Given the description of an element on the screen output the (x, y) to click on. 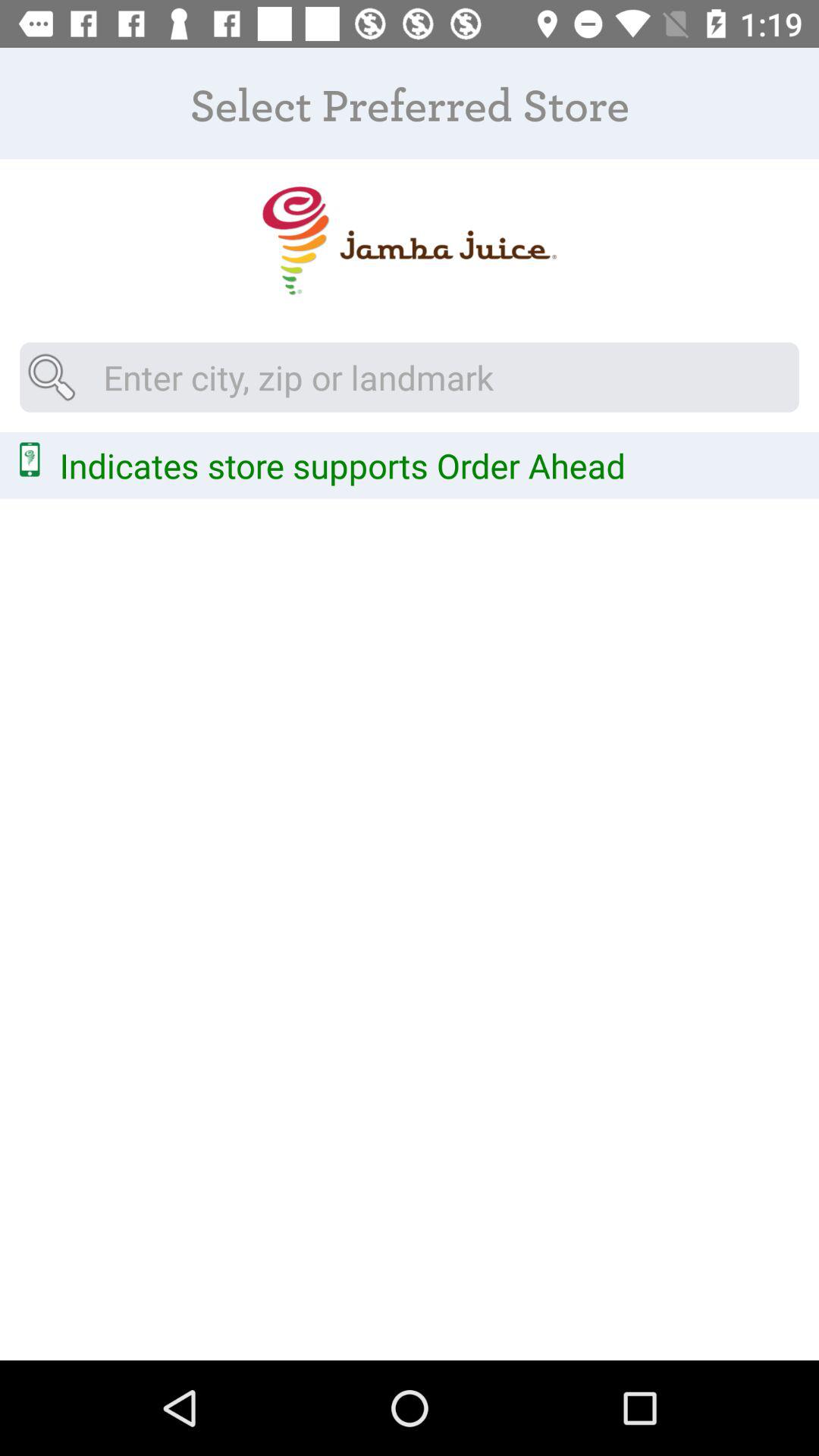
enter the location by city zip or landmark (409, 377)
